Given the description of an element on the screen output the (x, y) to click on. 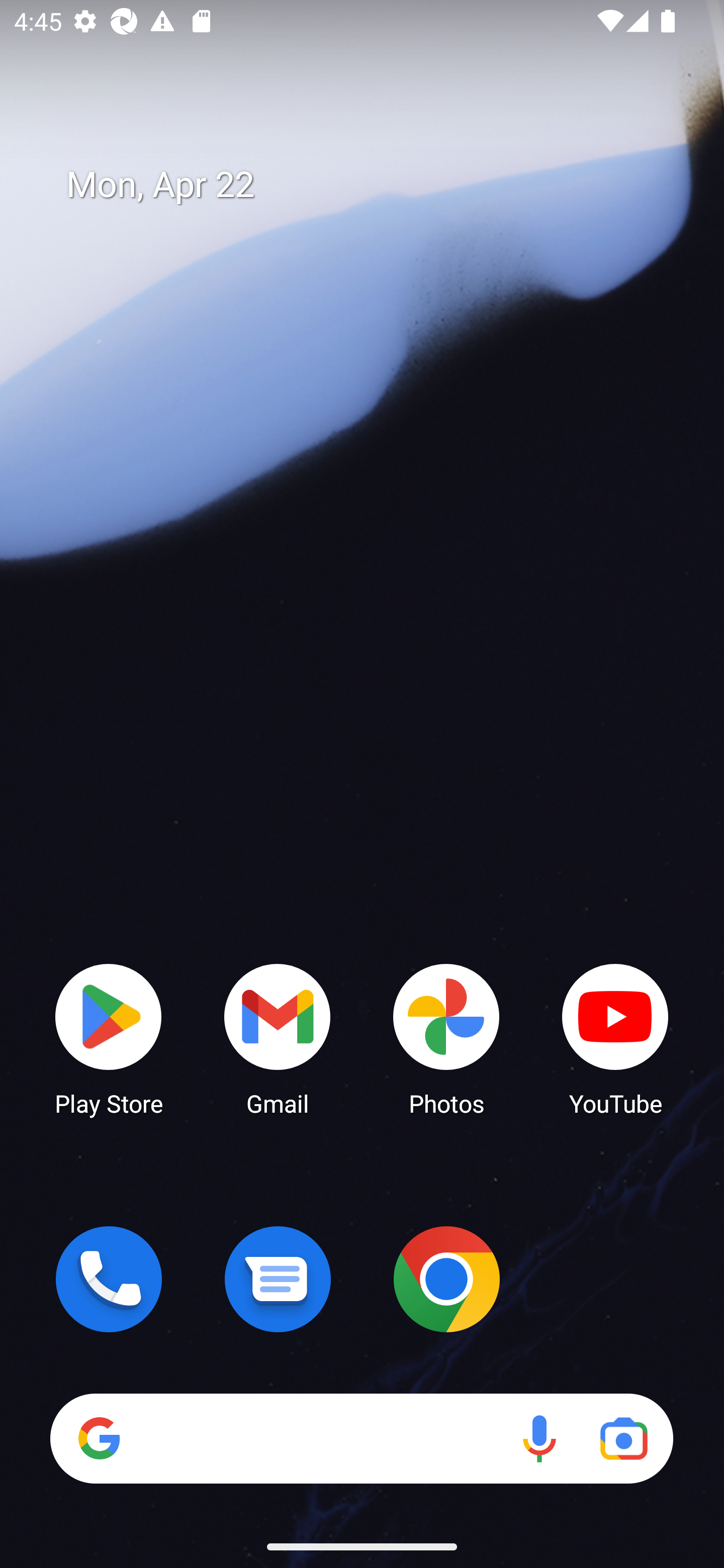
Mon, Apr 22 (375, 184)
Play Store (108, 1038)
Gmail (277, 1038)
Photos (445, 1038)
YouTube (615, 1038)
Phone (108, 1279)
Messages (277, 1279)
Chrome (446, 1279)
Search Voice search Google Lens (361, 1438)
Voice search (539, 1438)
Google Lens (623, 1438)
